Given the description of an element on the screen output the (x, y) to click on. 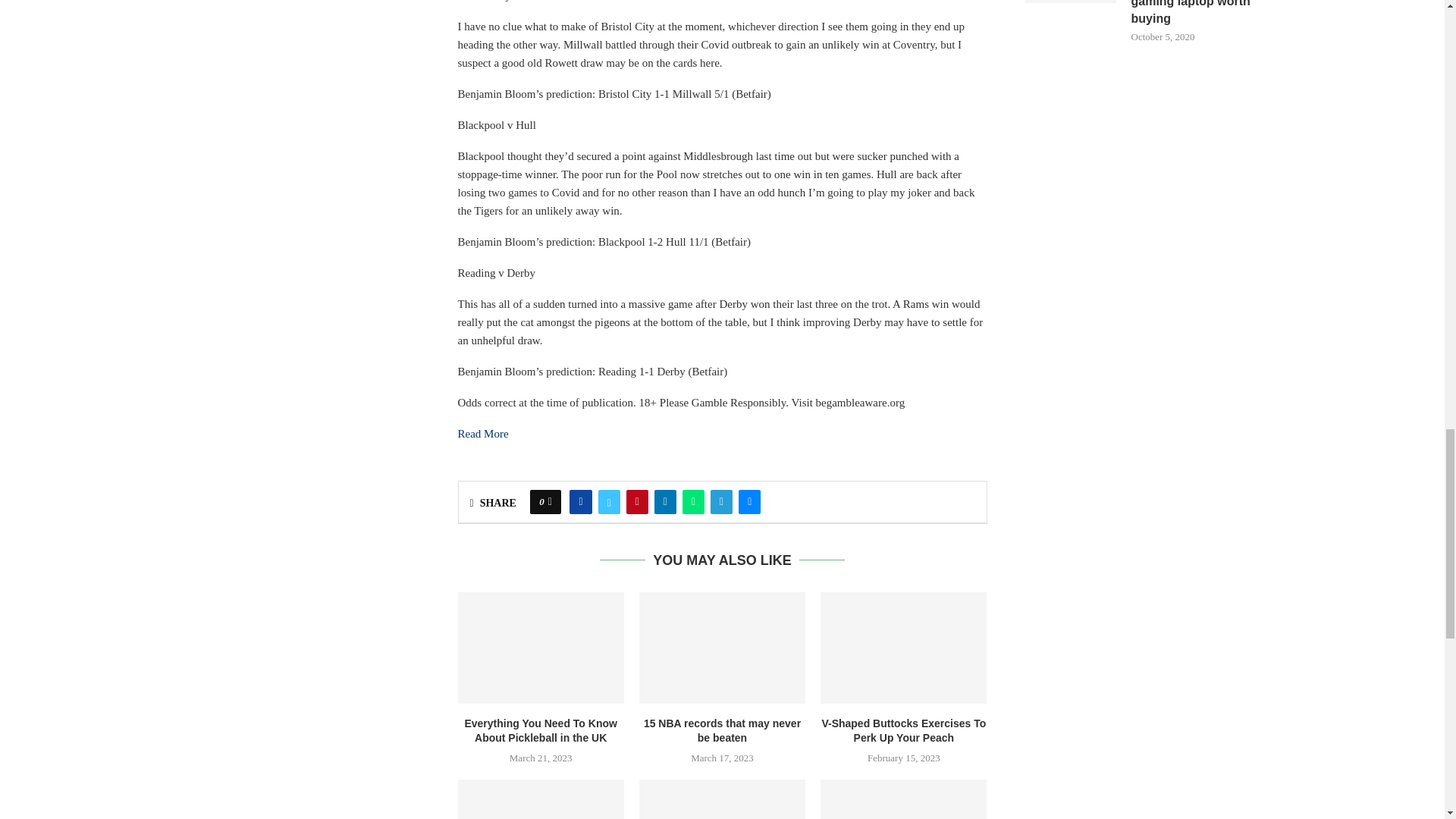
How will the world cup affect the leagues (722, 799)
Everything You Need To Know About Pickleball in the UK (541, 647)
Who is leading the NFL odds right now? (541, 799)
How You Can Prepare For The New Premier League Season (904, 799)
15 NBA records that may never be beaten (722, 647)
V-Shaped Buttocks Exercises To Perk Up Your Peach (904, 647)
